Given the description of an element on the screen output the (x, y) to click on. 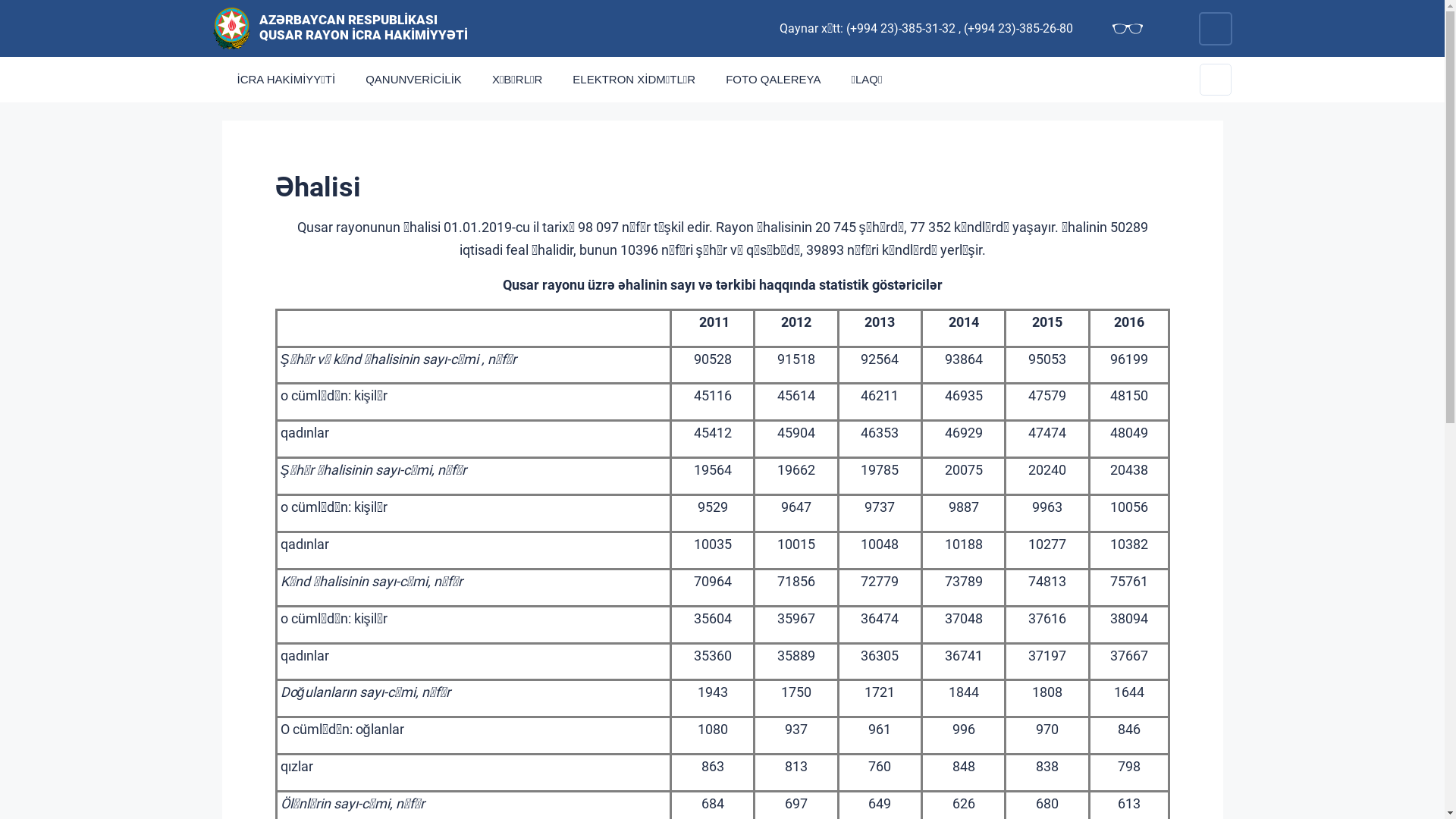
FOTO QALEREYA Element type: text (772, 79)
QANUNVERICILIK Element type: text (413, 79)
